Given the description of an element on the screen output the (x, y) to click on. 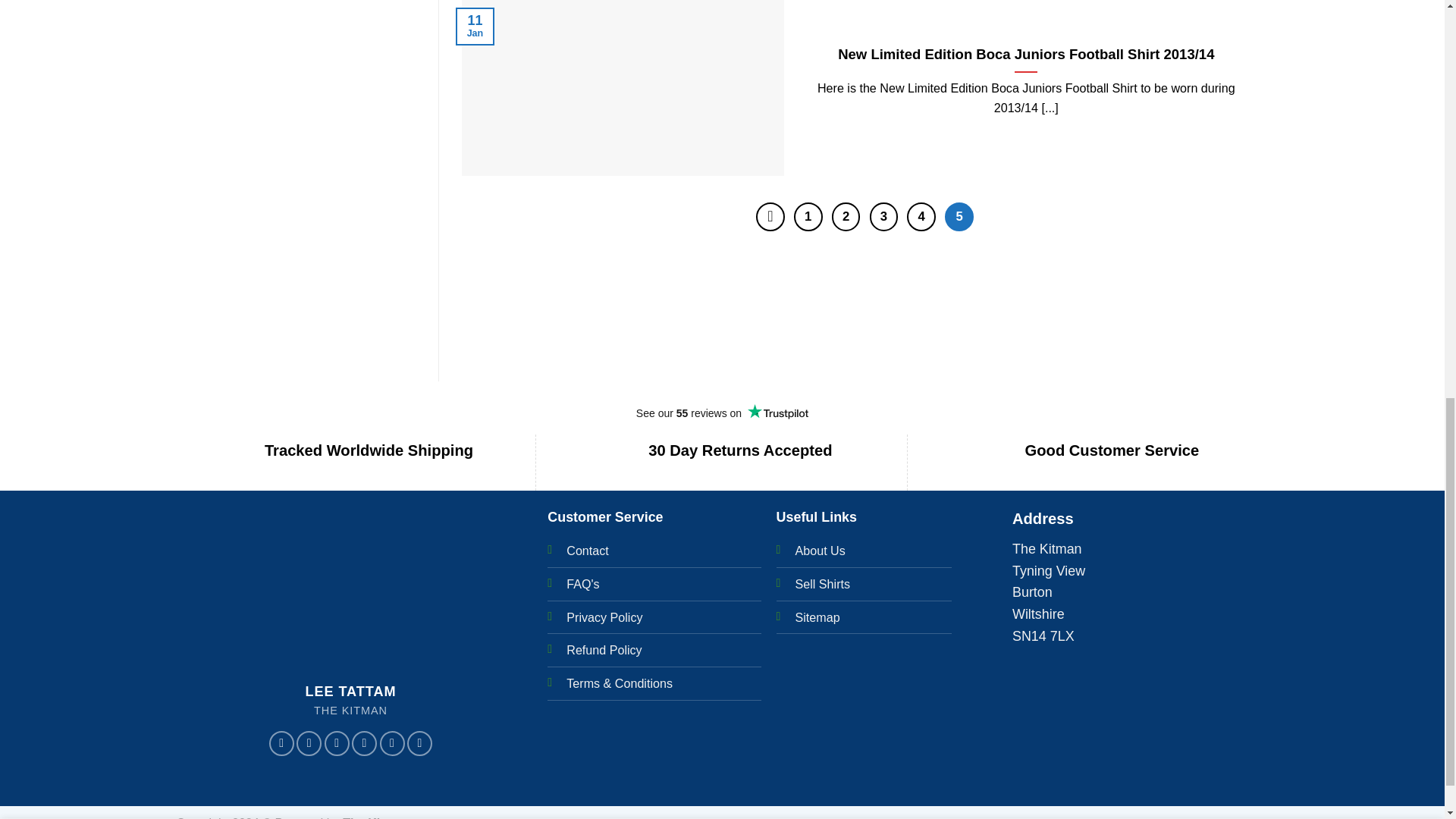
Follow on LinkedIn (419, 743)
Call us (391, 743)
Send us an email (364, 743)
Follow on Instagram (309, 743)
Follow on Facebook (281, 743)
Follow on Twitter (336, 743)
